Given the description of an element on the screen output the (x, y) to click on. 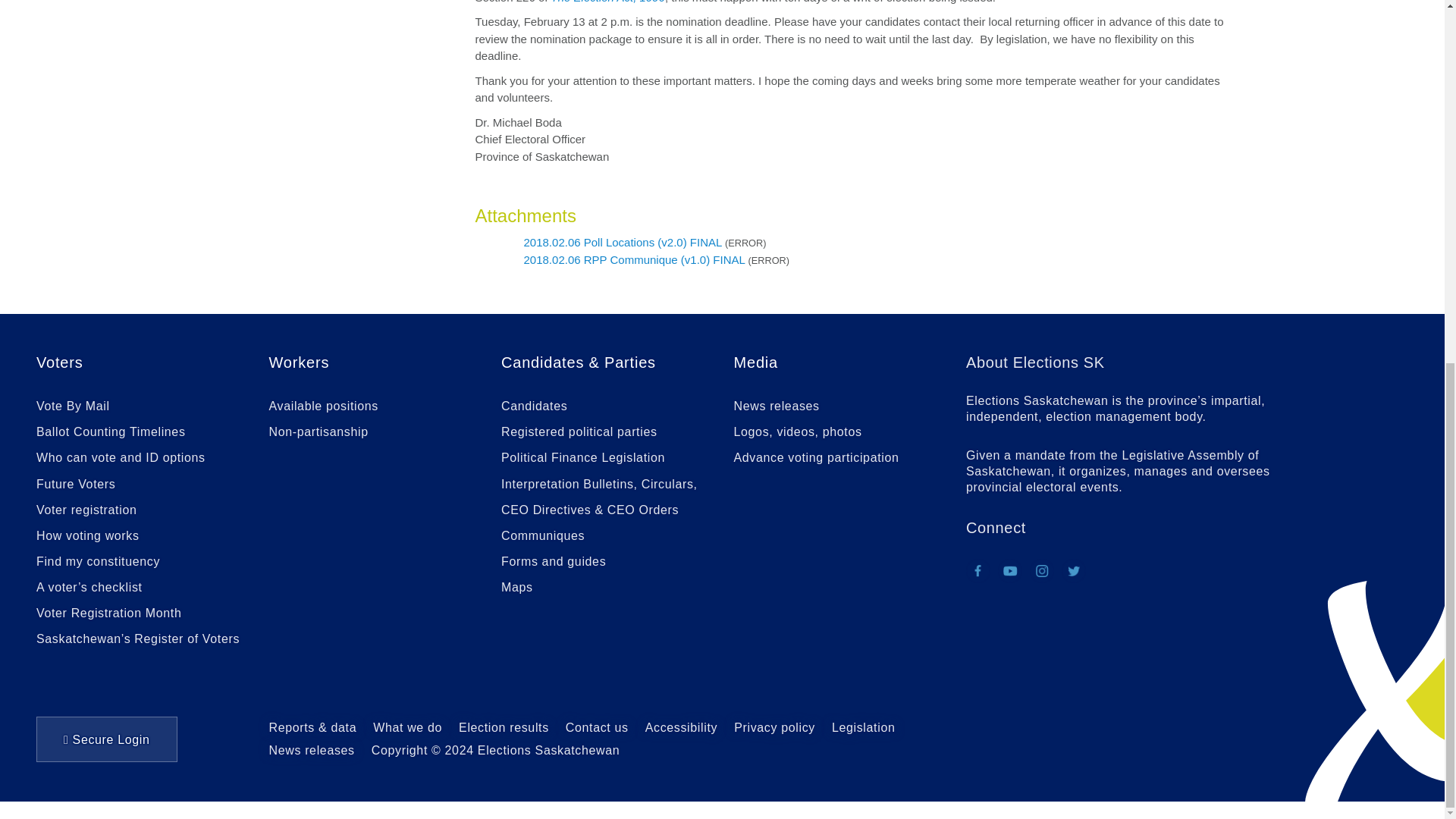
Voters (59, 362)
